Given the description of an element on the screen output the (x, y) to click on. 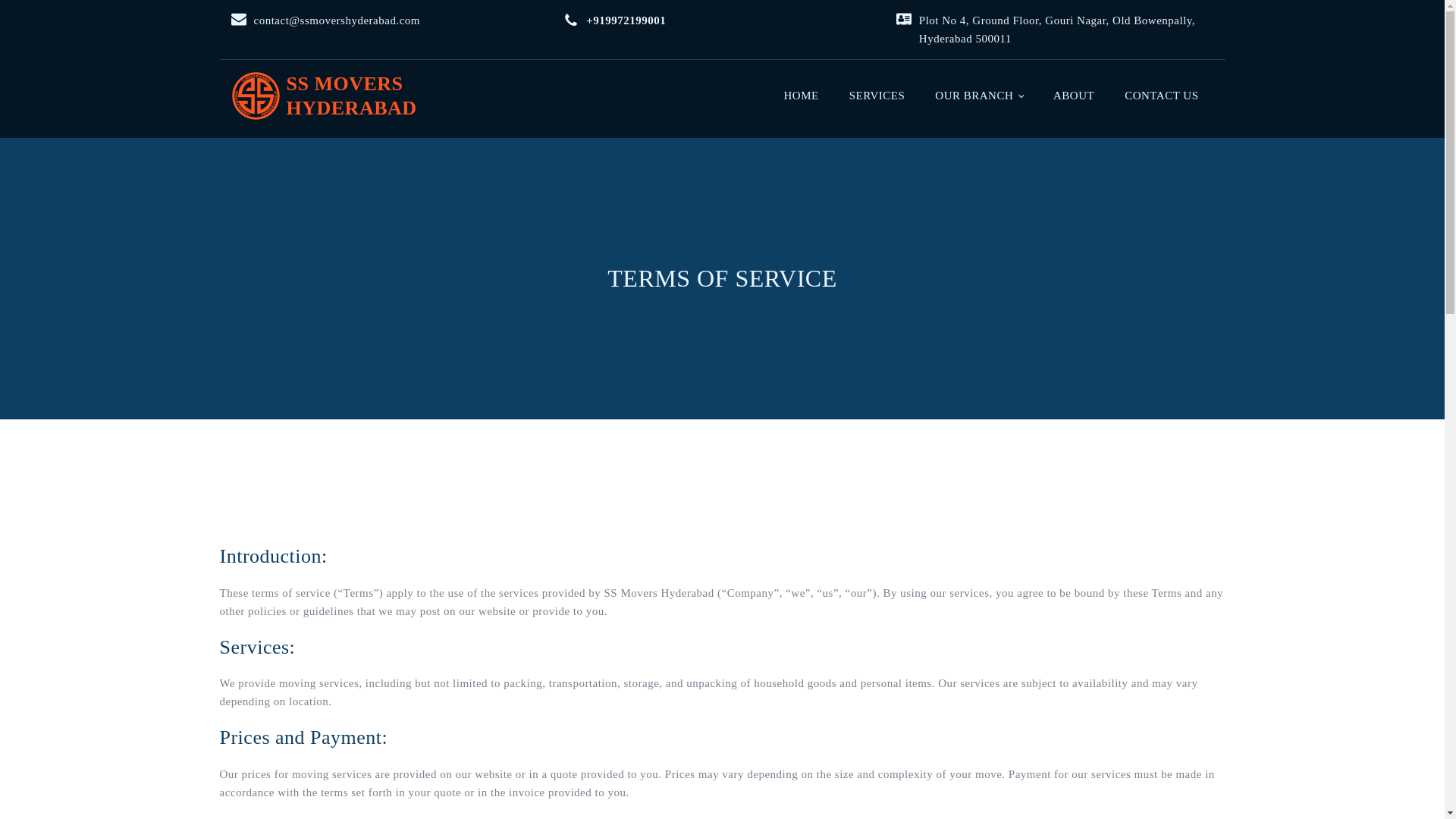
ABOUT (1073, 95)
SERVICES (323, 95)
OUR BRANCH (877, 95)
HOME (979, 95)
CONTACT US (801, 95)
